Given the description of an element on the screen output the (x, y) to click on. 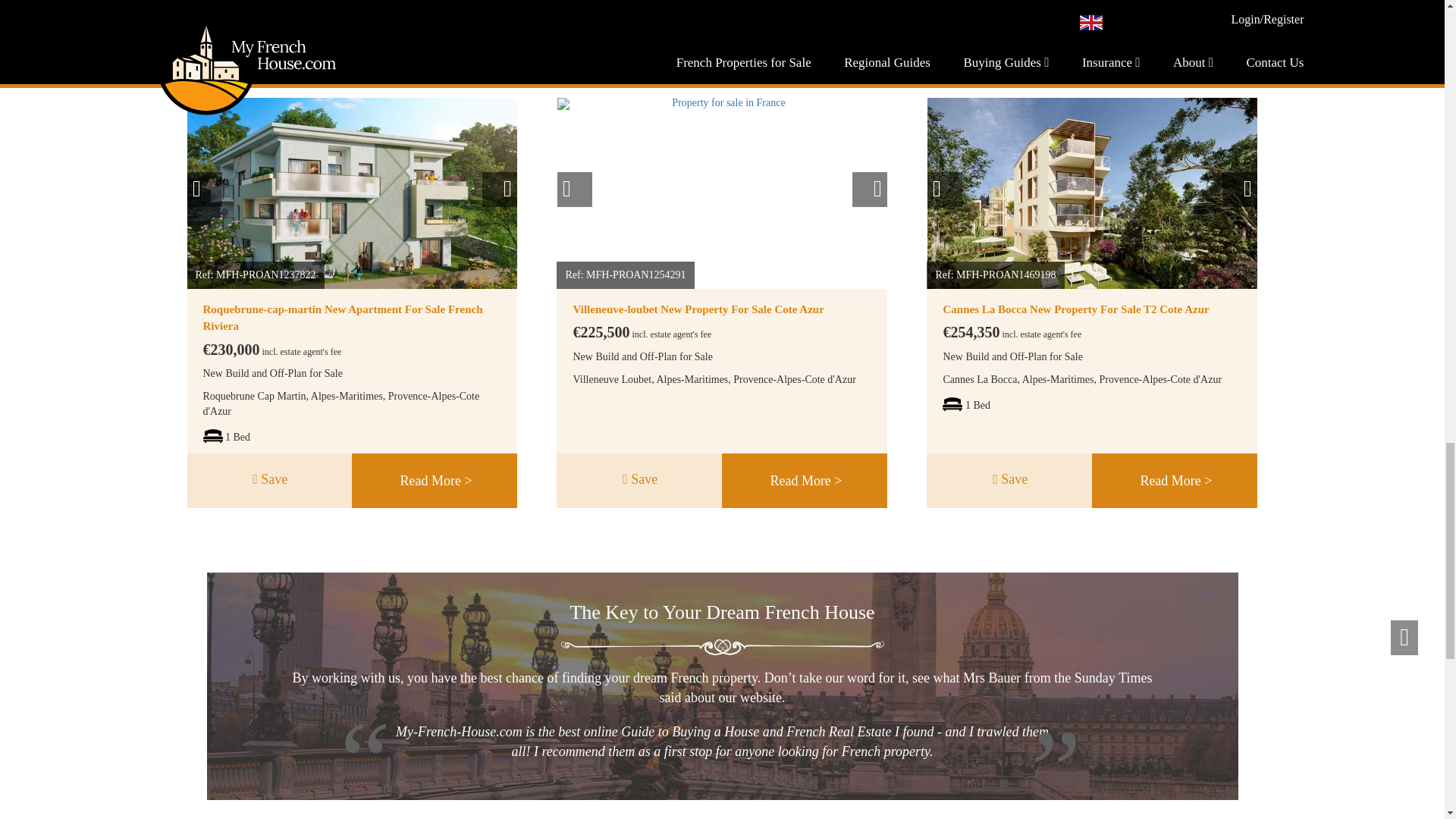
Villeneuve-loubet New Property For Sale Cote Azur (698, 309)
Cannes La Bocca New Property For Sale T2 Cote Azur (1075, 309)
Roquebrune-cap-martin New Apartment For Sale French Riviera (343, 317)
